Given the description of an element on the screen output the (x, y) to click on. 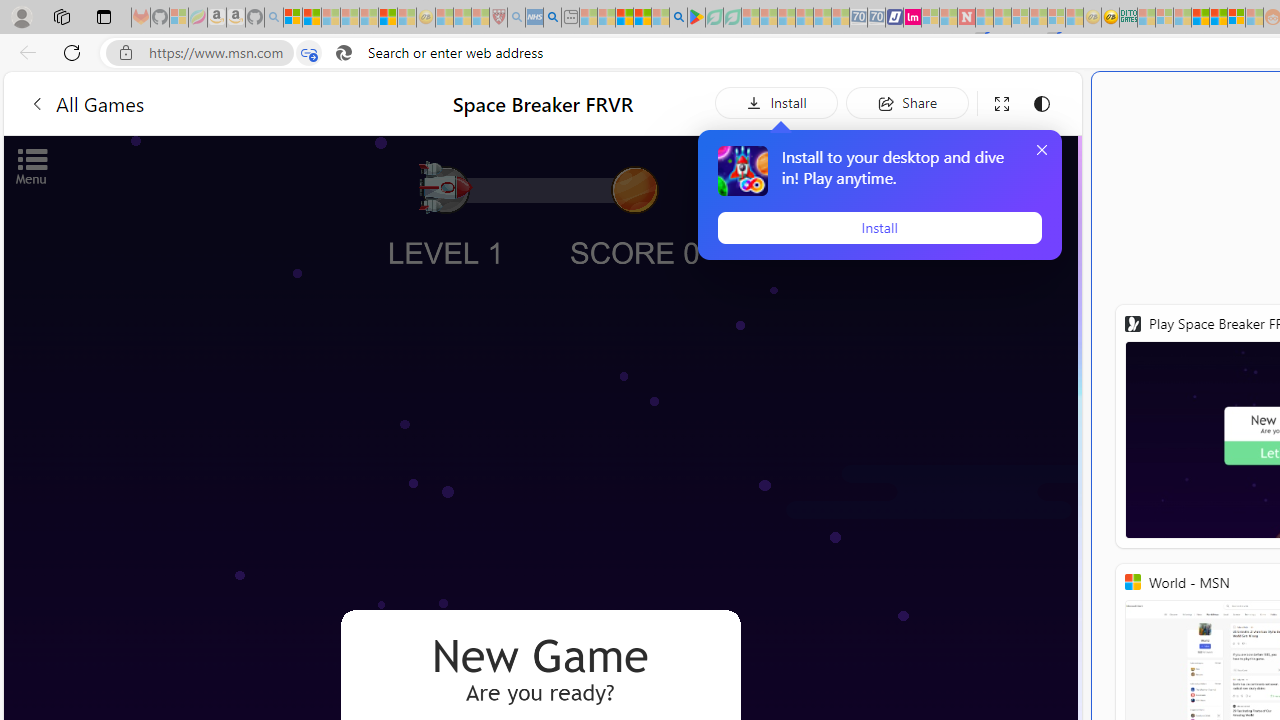
Expert Portfolios (1200, 17)
Latest Politics News & Archive | Newsweek.com - Sleeping (966, 17)
